Given the description of an element on the screen output the (x, y) to click on. 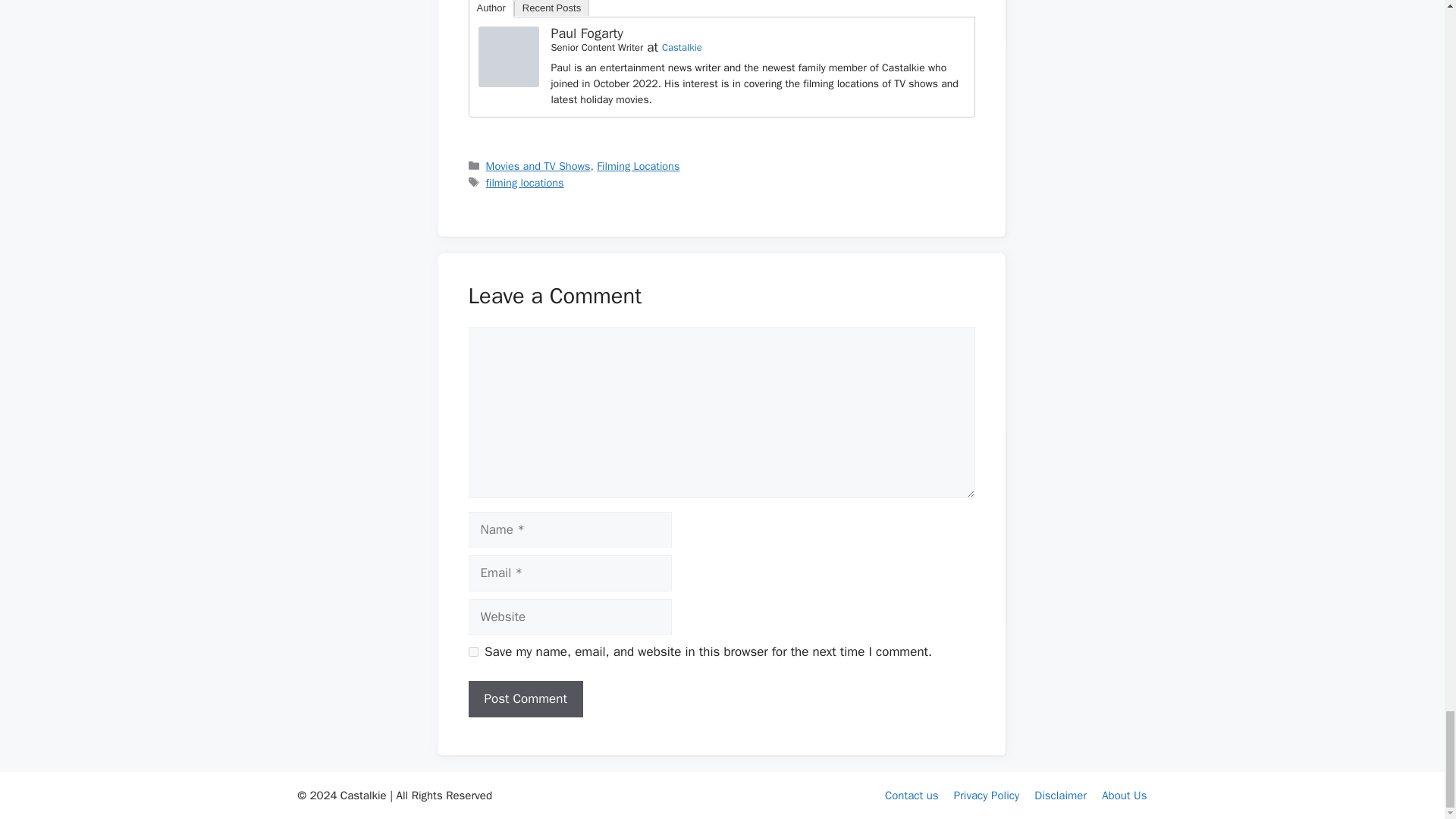
Post Comment (525, 698)
Paul Fogarty (586, 33)
Author (490, 8)
yes (473, 651)
Recent Posts (551, 7)
Paul Fogarty (507, 82)
Castalkie (681, 47)
Where was 3 Body Problem filmed? Netflix Show Locations (507, 56)
